Given the description of an element on the screen output the (x, y) to click on. 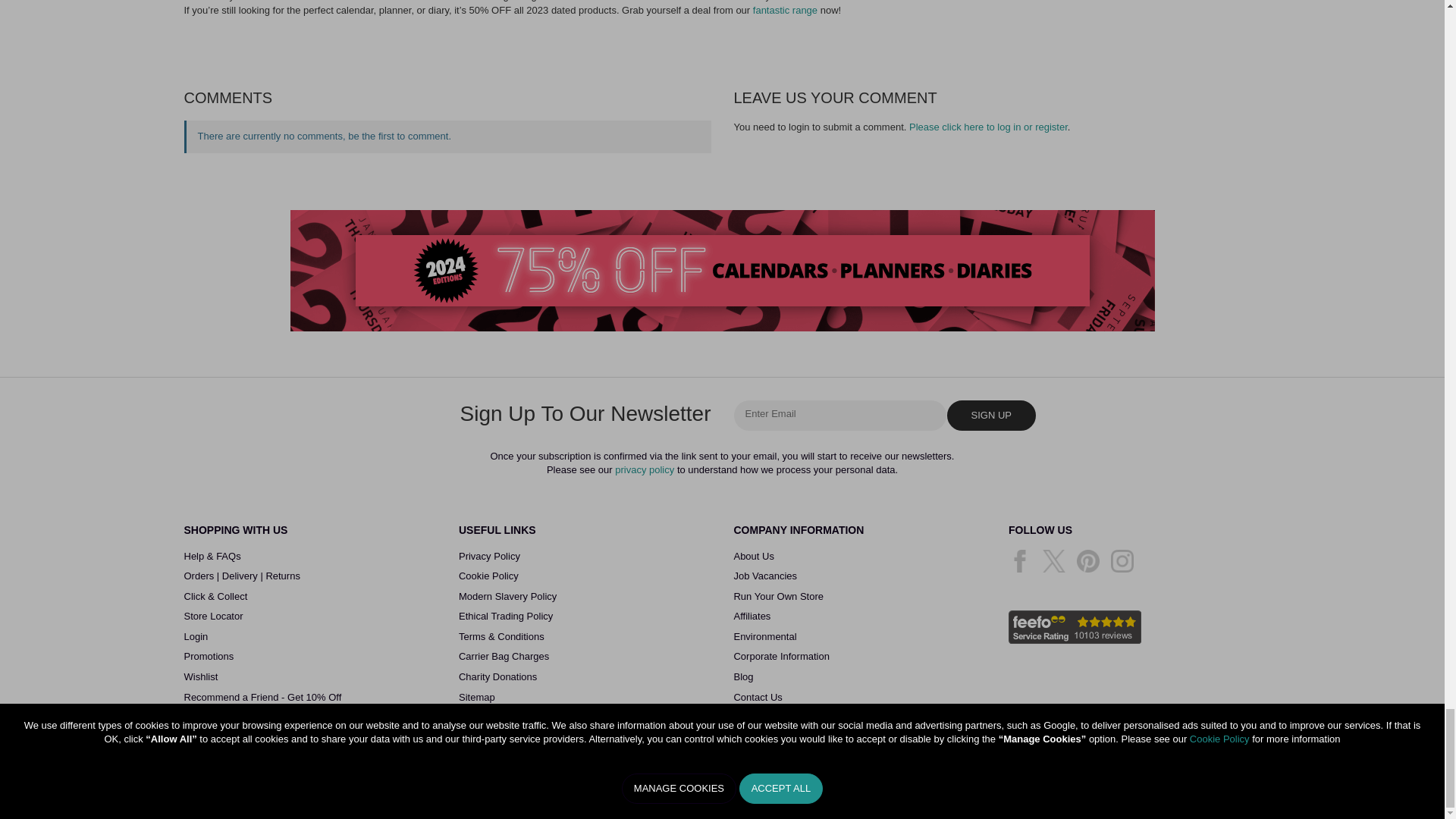
Sign Up (990, 414)
